Given the description of an element on the screen output the (x, y) to click on. 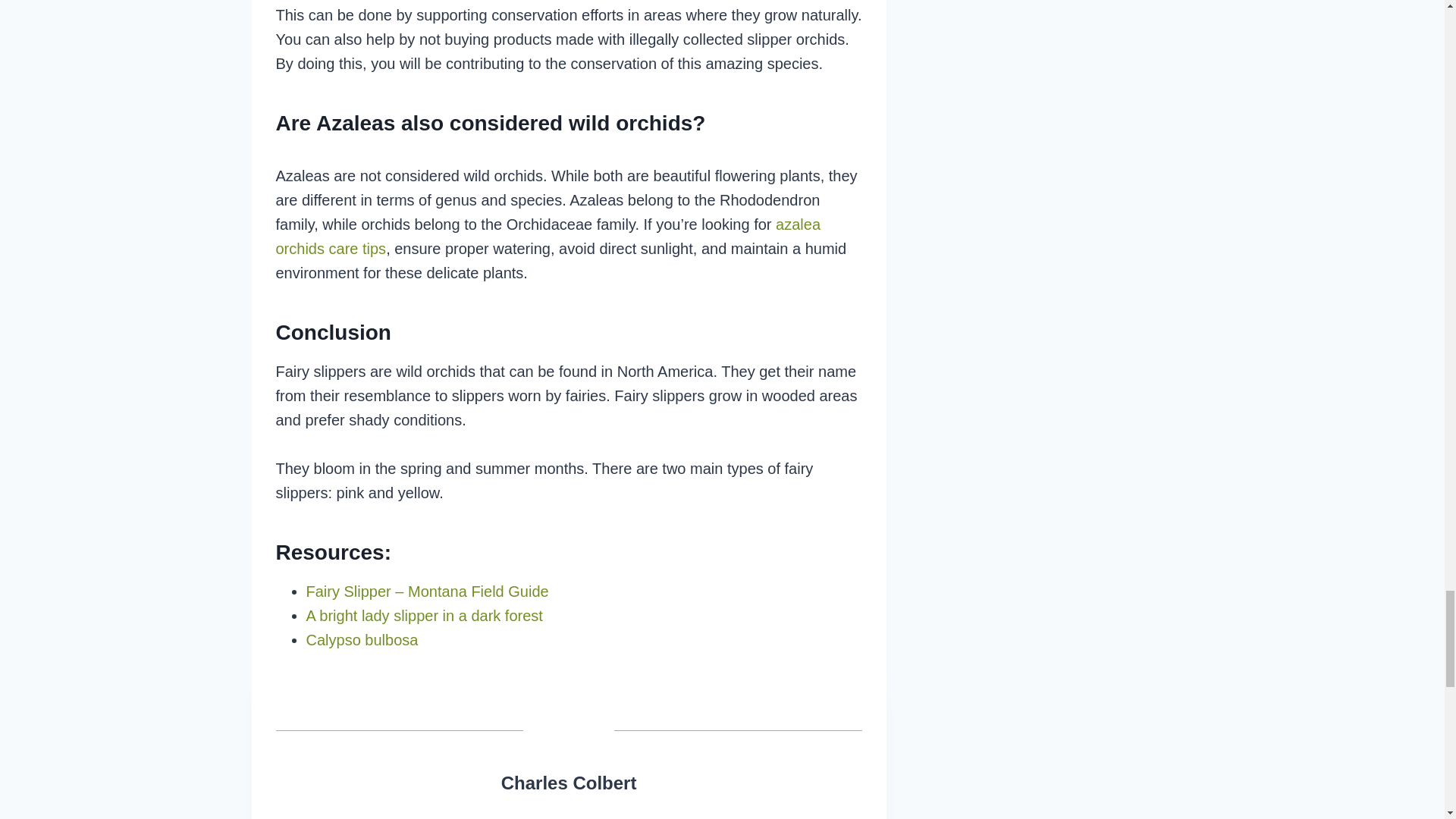
A bright lady slipper in a dark forest (424, 615)
Charles Colbert (568, 783)
azalea orchids care tips (548, 236)
Calypso bulbosa (362, 639)
Posts by Charles Colbert (568, 783)
